Given the description of an element on the screen output the (x, y) to click on. 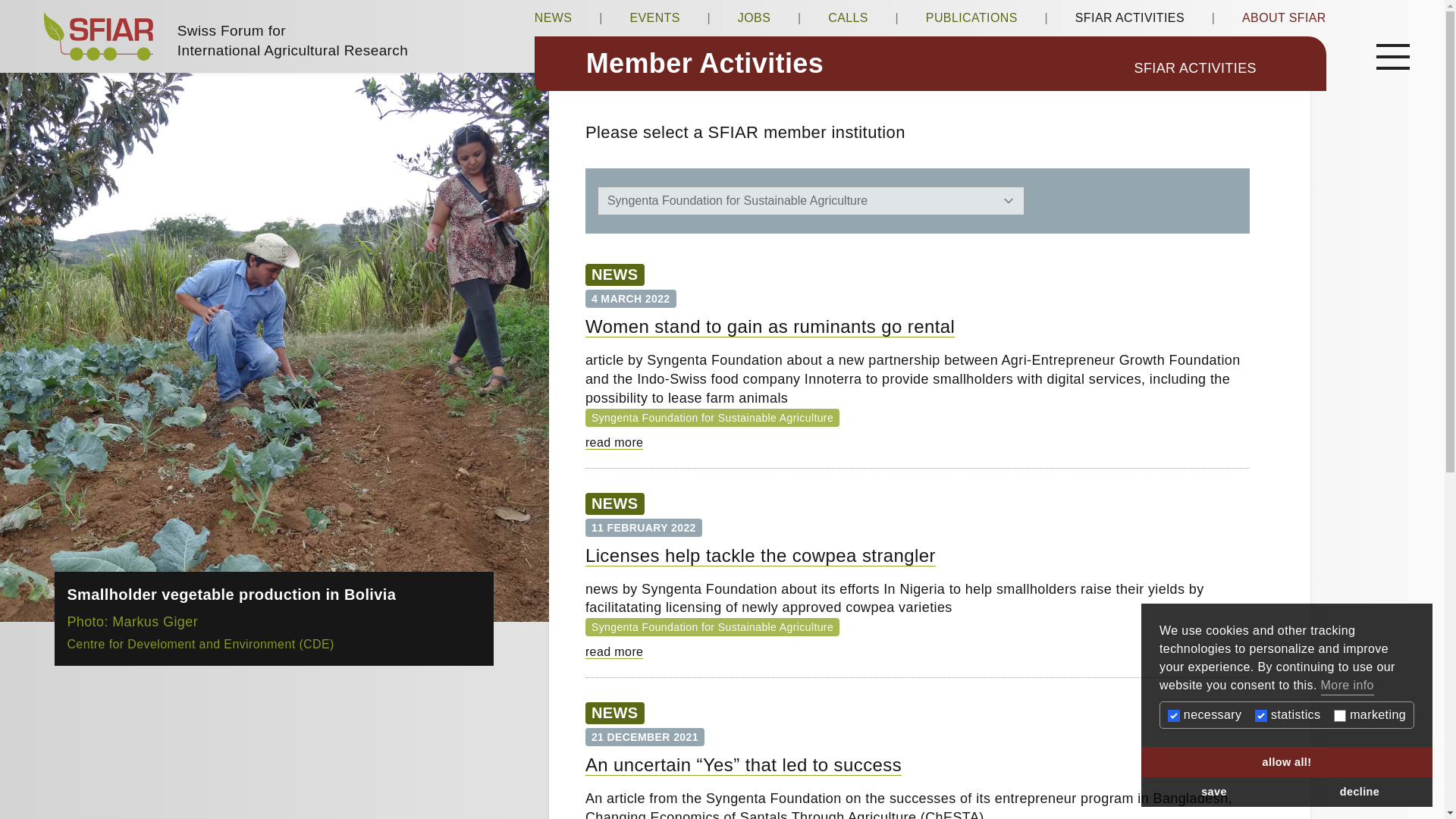
News (553, 17)
EVENTS (653, 17)
Licenses help tackle the cowpea strangler (614, 652)
NEWS (615, 712)
Women stand to gain as ruminants go rental (770, 326)
Syngenta Foundation for Sustainable Agriculture (712, 417)
Women stand to gain as ruminants go rental (614, 441)
Calls (847, 17)
CALLS (847, 17)
News (615, 274)
SFIAR Activities (1226, 68)
Publications (971, 17)
PUBLICATIONS (971, 17)
NEWS (615, 274)
Syngenta Foundation for Sustainable Agriculture (712, 626)
